Given the description of an element on the screen output the (x, y) to click on. 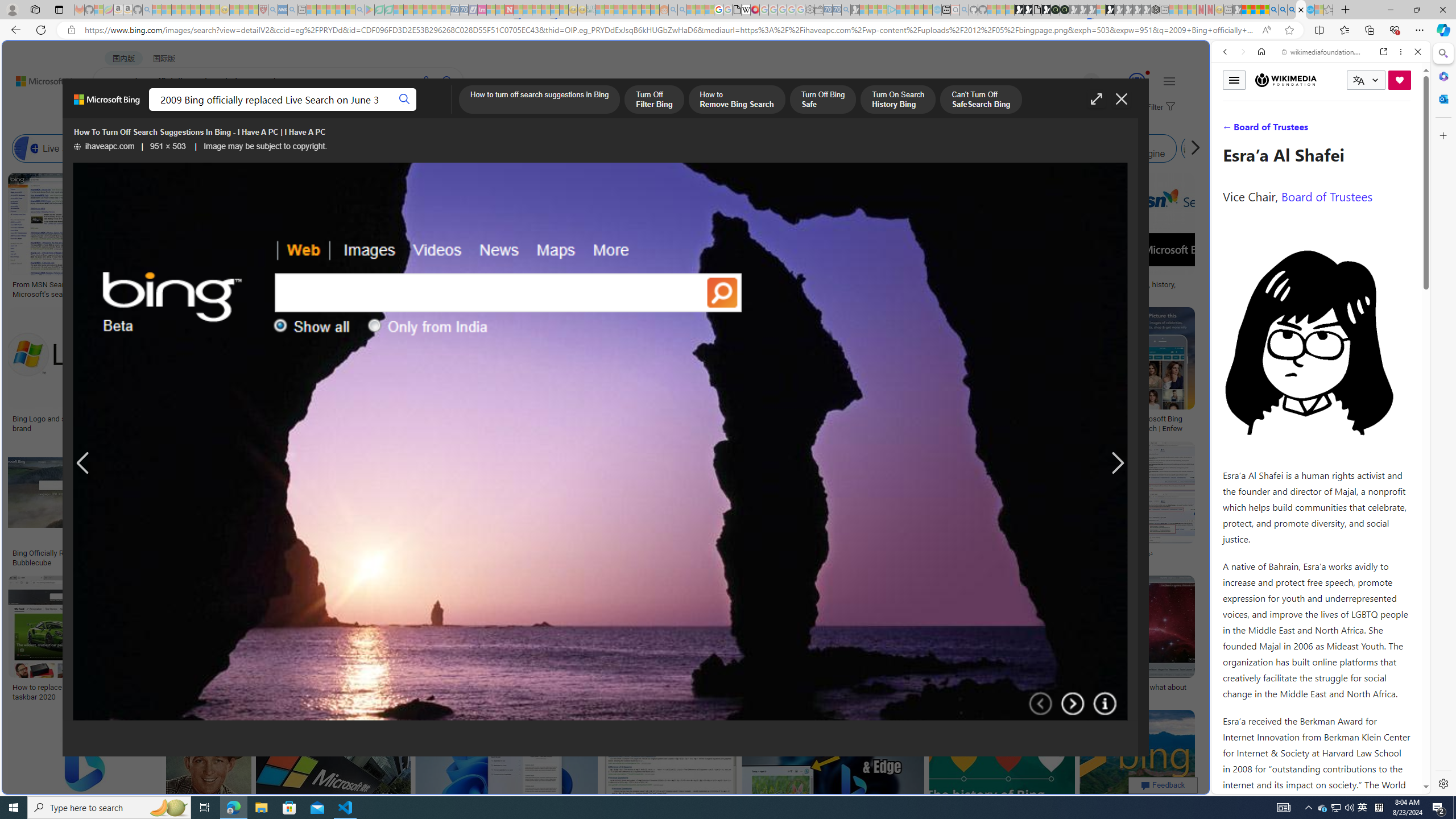
Actions for this site (1370, 583)
MSN Homepage Bing Search Engine (767, 148)
Search the web (1326, 78)
Bing - SEOLend (219, 552)
Settings - Sleeping (809, 9)
Search Filter, WEB (1230, 129)
Bing Best Search Engine (633, 148)
Local - MSN - Sleeping (253, 9)
Full screen (1096, 99)
DITOGAMES AG Imprint - Sleeping (590, 9)
Bing: rebranding search: idsgn (a design blog) (699, 289)
